Given the description of an element on the screen output the (x, y) to click on. 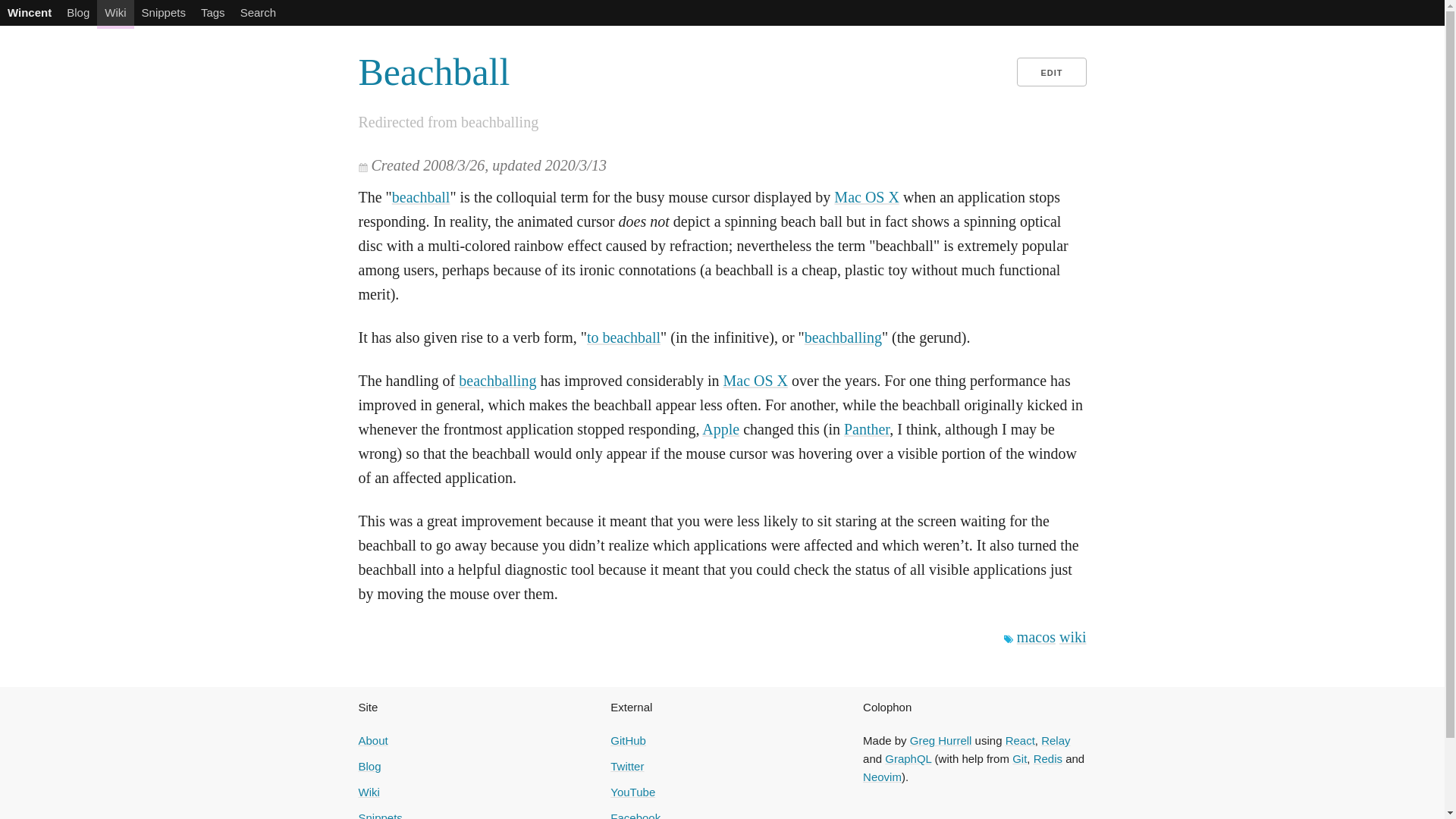
Neovim (882, 776)
About (372, 739)
Panther (866, 428)
wiki (1072, 636)
Redis (1047, 758)
GitHub (628, 739)
Twitter (626, 766)
to beachball (623, 337)
Git (1018, 758)
Tags (212, 12)
